Given the description of an element on the screen output the (x, y) to click on. 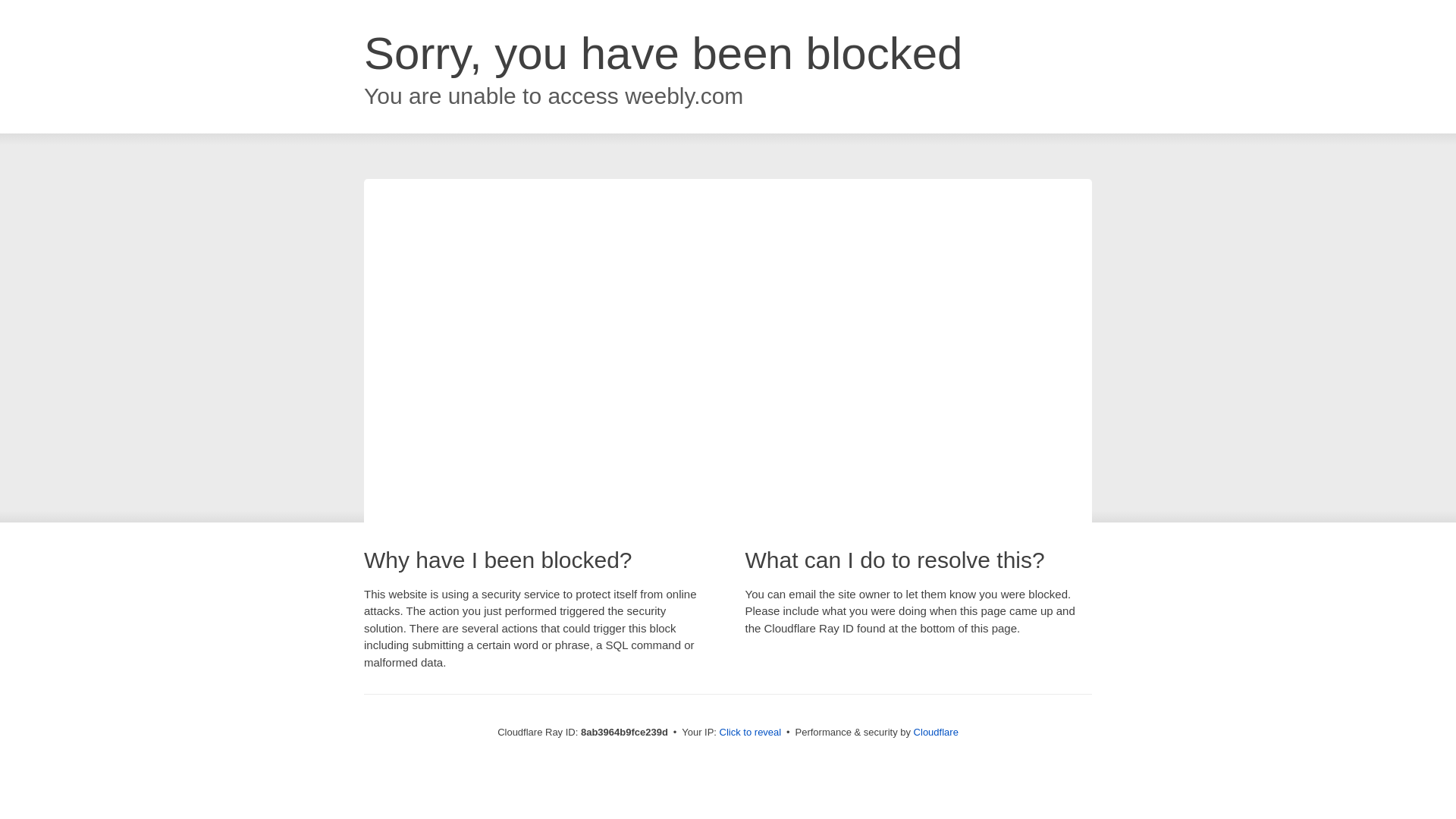
Click to reveal (750, 732)
Cloudflare (936, 731)
